Given the description of an element on the screen output the (x, y) to click on. 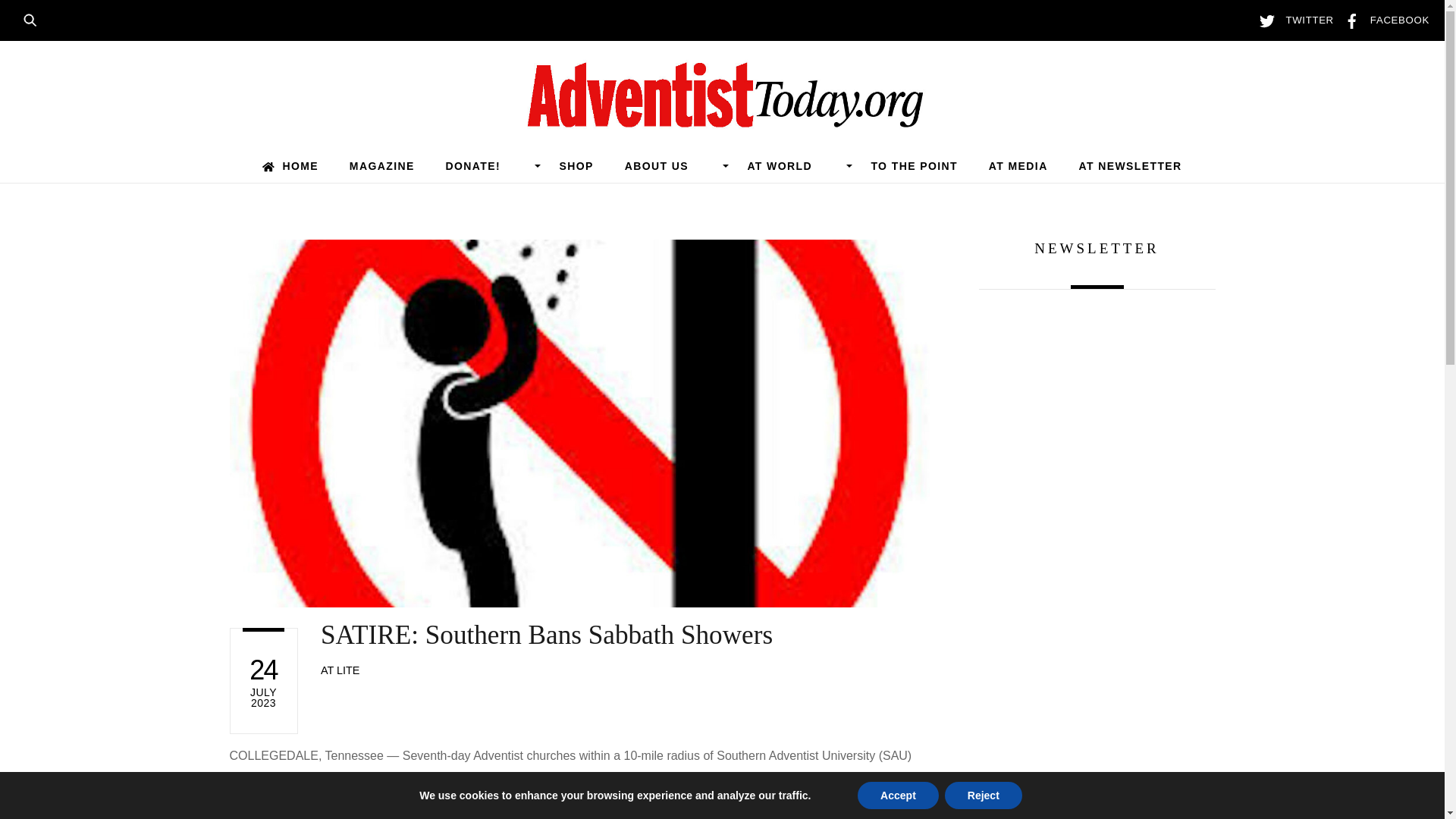
TO THE POINT (913, 165)
FACEBOOK (1382, 19)
Adventist Today (722, 119)
HOME (290, 165)
AT LITE (339, 670)
DONATE! (486, 165)
AT WORLD (793, 165)
ABOUT US (669, 165)
Search (35, 18)
SHOP (576, 165)
AT MEDIA (1017, 165)
TWITTER (1292, 19)
MAGAZINE (381, 165)
AT NEWSLETTER (1129, 165)
